Given the description of an element on the screen output the (x, y) to click on. 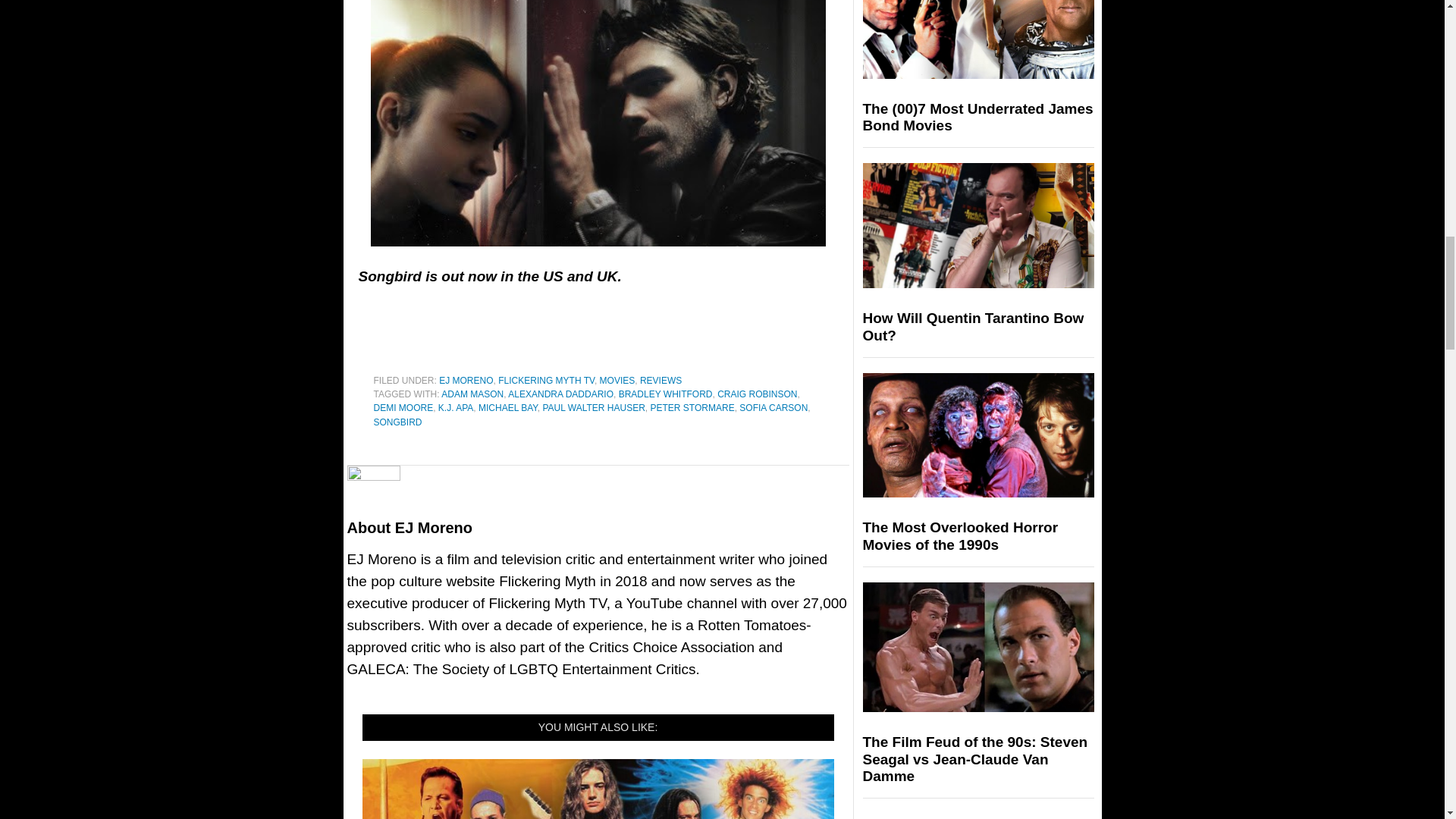
MOVIES (616, 380)
EJ MORENO (466, 380)
FLICKERING MYTH TV (545, 380)
